Given the description of an element on the screen output the (x, y) to click on. 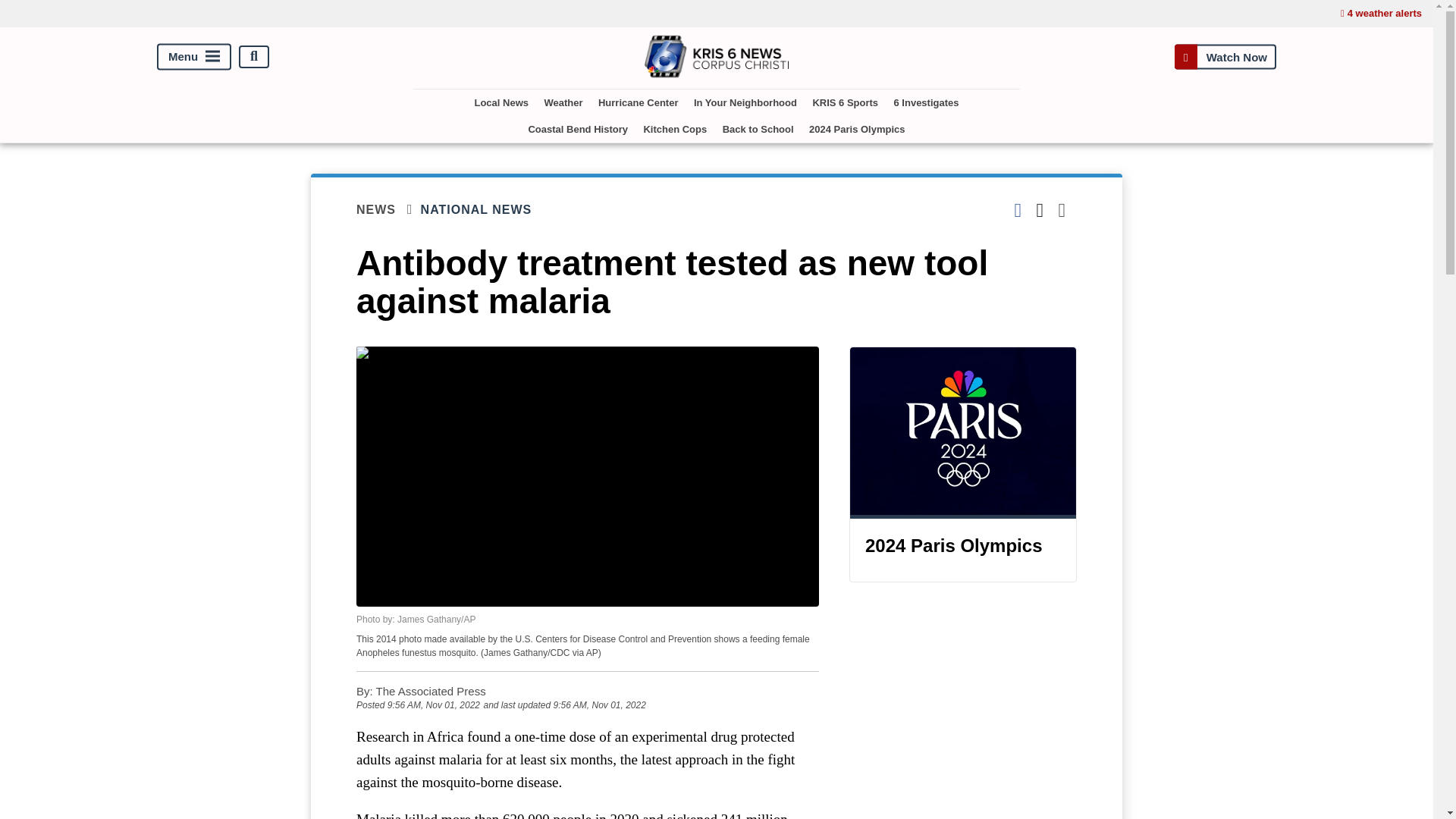
Watch Now (1224, 56)
Menu (194, 56)
